Given the description of an element on the screen output the (x, y) to click on. 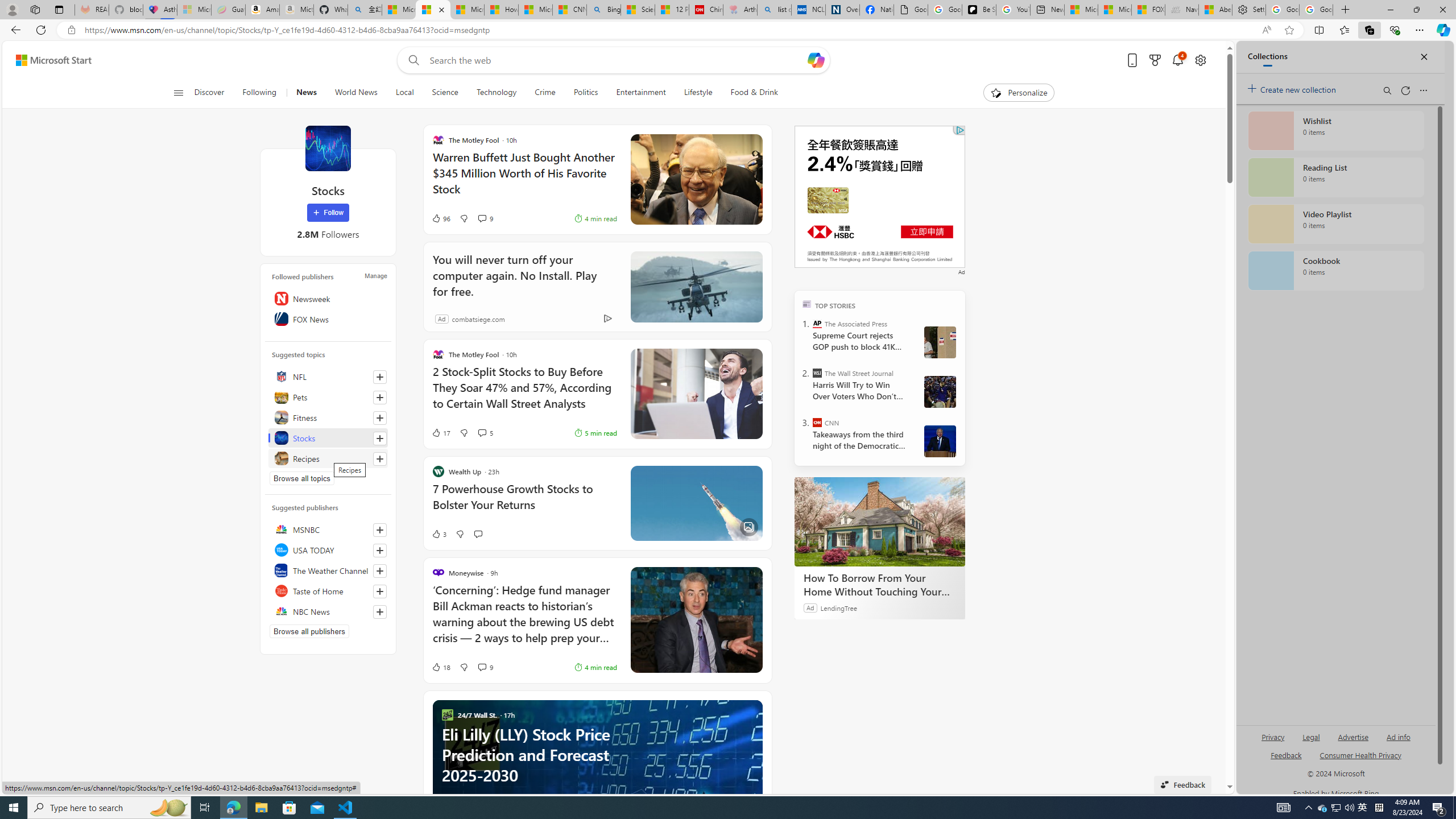
Class: qc-adchoices-icon (959, 130)
Browse all topics (301, 477)
Class: qc-adchoices-link top-right  (959, 129)
